Given the description of an element on the screen output the (x, y) to click on. 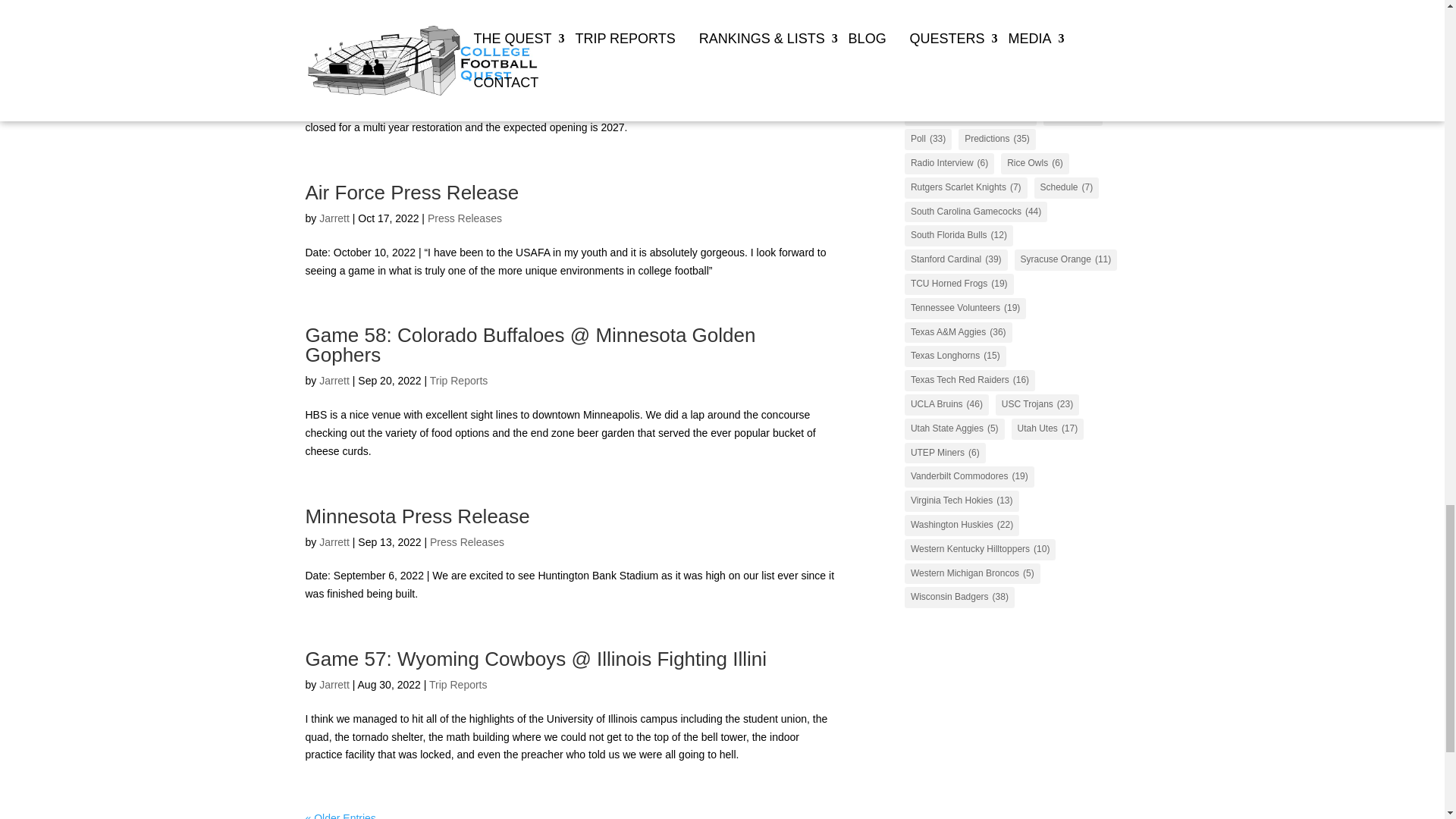
Posts by Jarrett (333, 57)
Posts by Jarrett (333, 541)
Posts by Jarrett (333, 380)
Posts by Jarrett (333, 684)
Posts by Jarrett (333, 218)
